Given the description of an element on the screen output the (x, y) to click on. 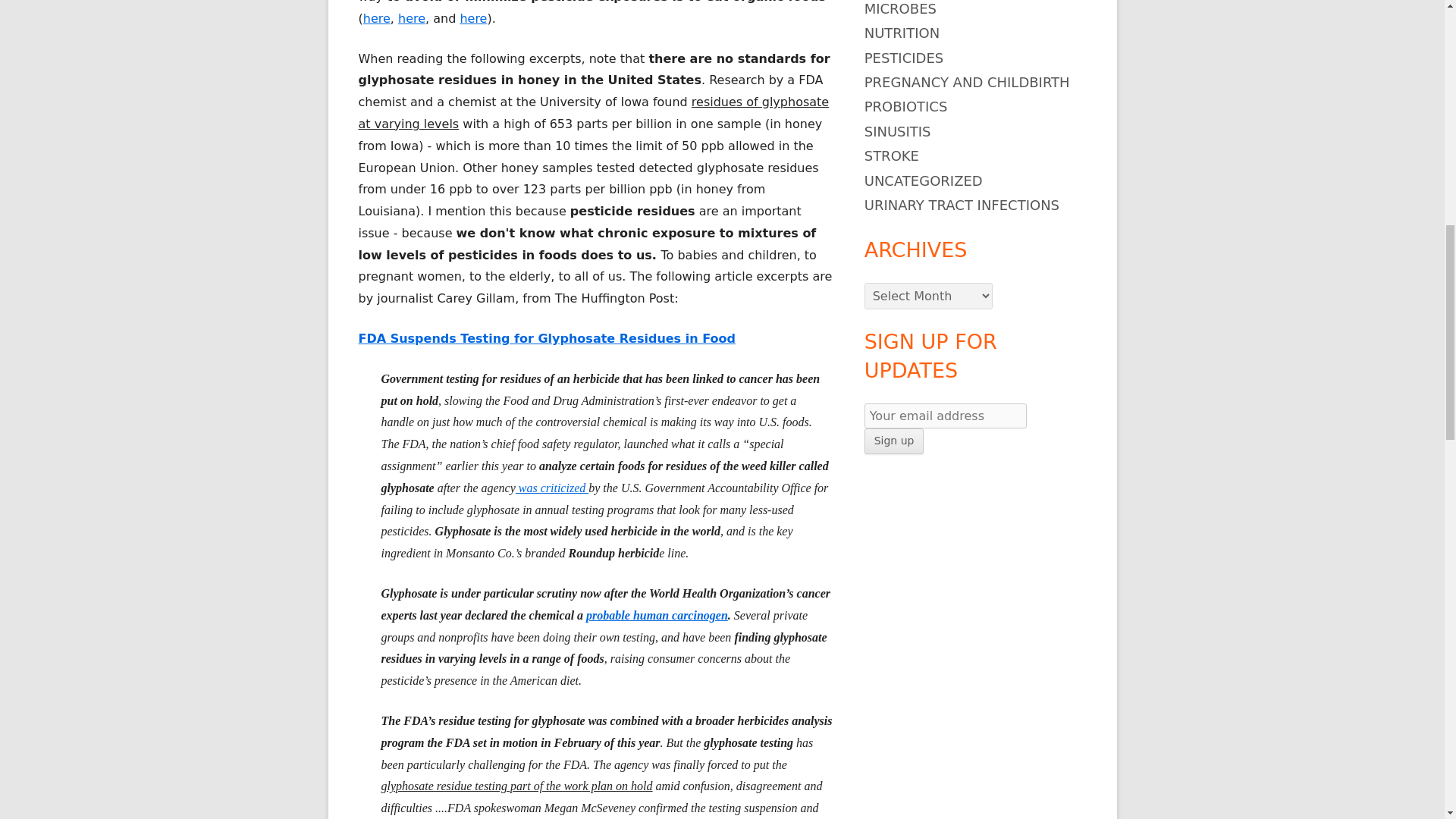
here (411, 18)
Sign up (894, 441)
FDA Suspends Testing for Glyphosate Residues in Food (546, 338)
here (376, 18)
here (473, 18)
probable human carcinogen (657, 615)
was criticized (551, 487)
